Given the description of an element on the screen output the (x, y) to click on. 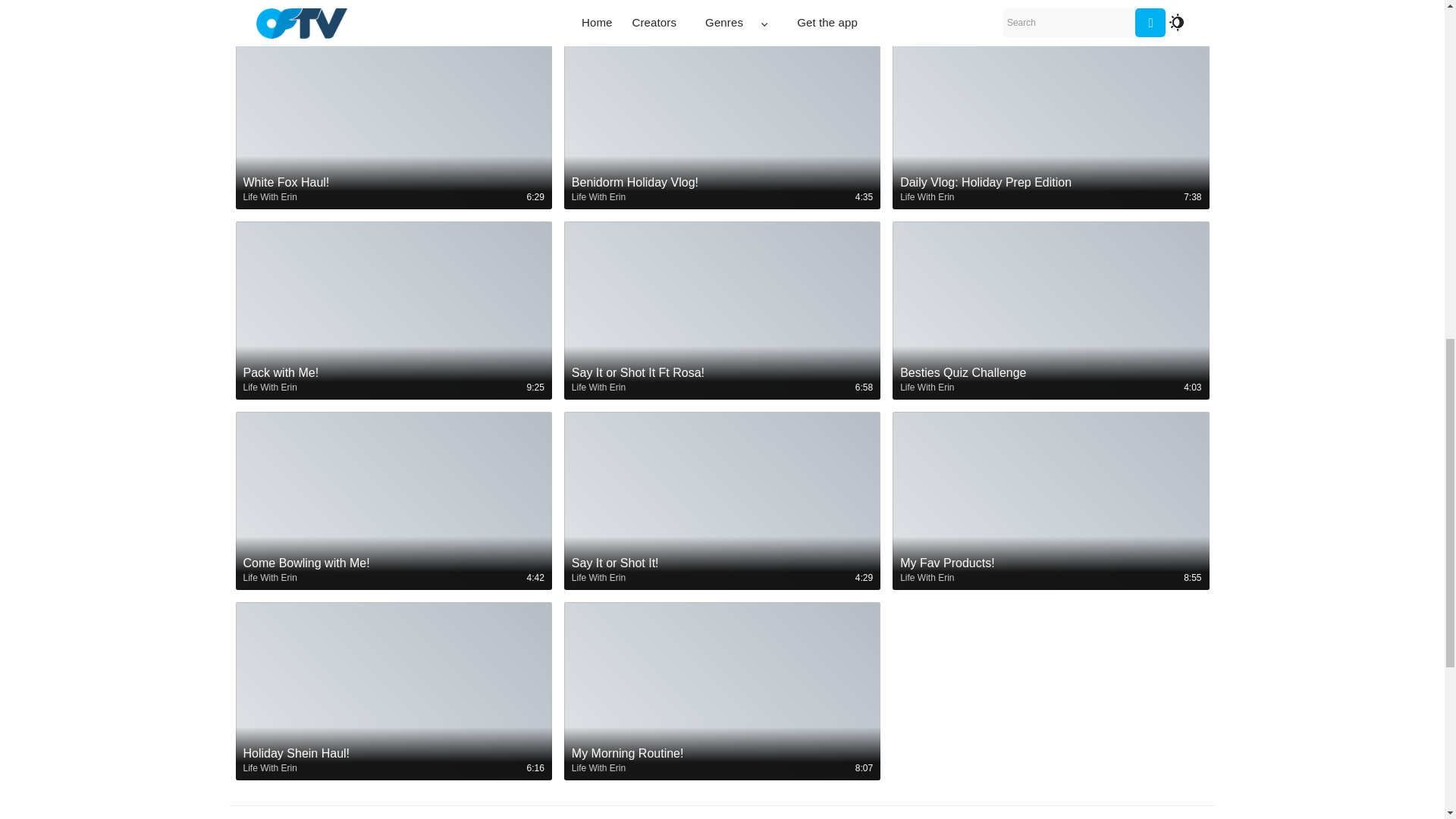
Life With Erin (270, 196)
Life With Erin (270, 386)
Life With Erin (599, 386)
Pack with Me! (393, 380)
Daily Vlog: Holiday Prep Edition (1050, 190)
Say It or Shot It Ft Rosa! (722, 372)
Life With Erin (926, 196)
Daily Vlog: Holiday Prep Edition (1050, 182)
Say It or Shot It Ft Rosa! (722, 380)
Pack with Me! (393, 372)
Benidorm Holiday Vlog! (722, 190)
Benidorm Holiday Vlog! (722, 182)
Life With Erin (599, 196)
White Fox Haul! (393, 182)
White Fox Haul! (393, 190)
